Given the description of an element on the screen output the (x, y) to click on. 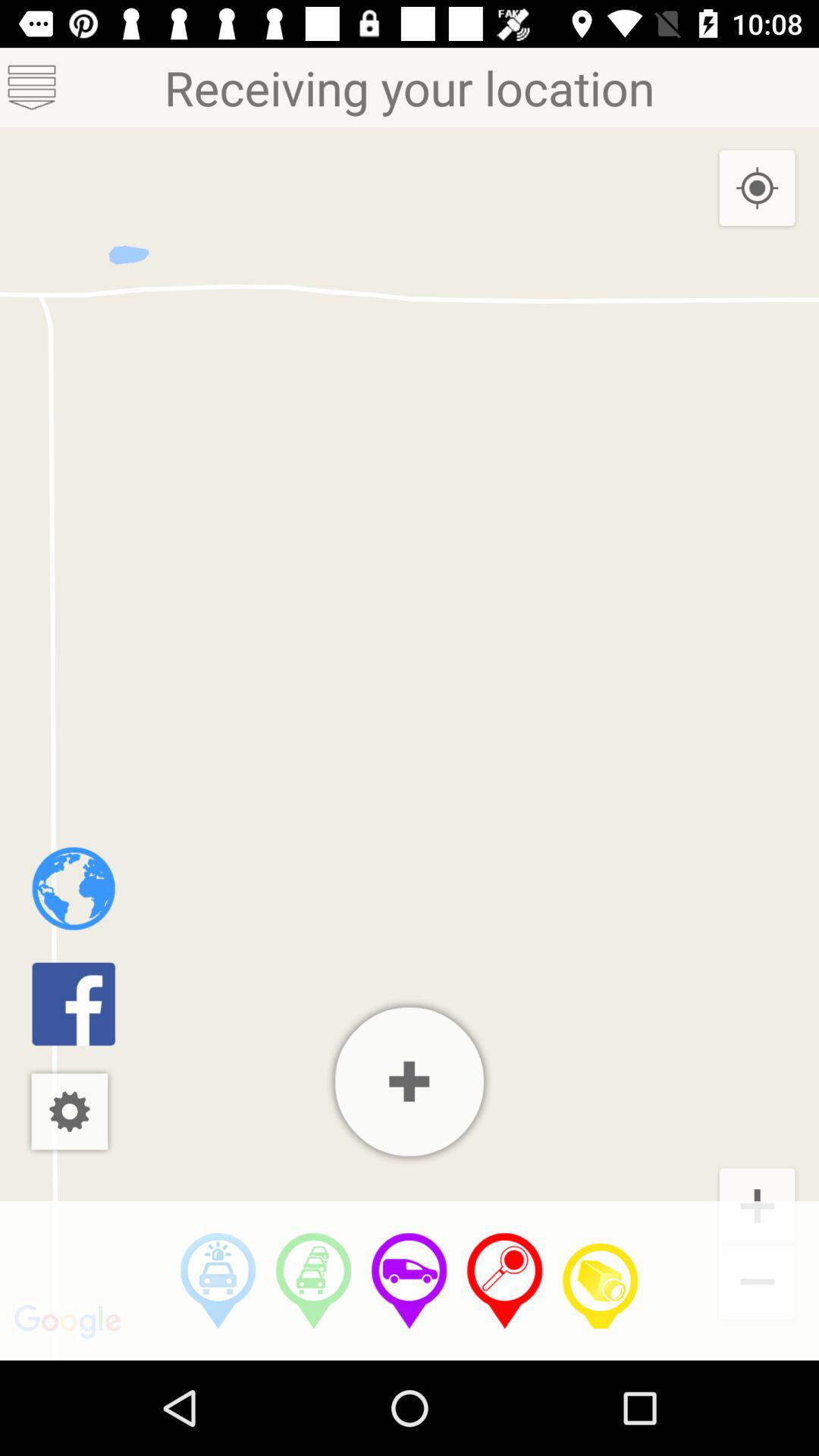
get traffic information (313, 1280)
